Given the description of an element on the screen output the (x, y) to click on. 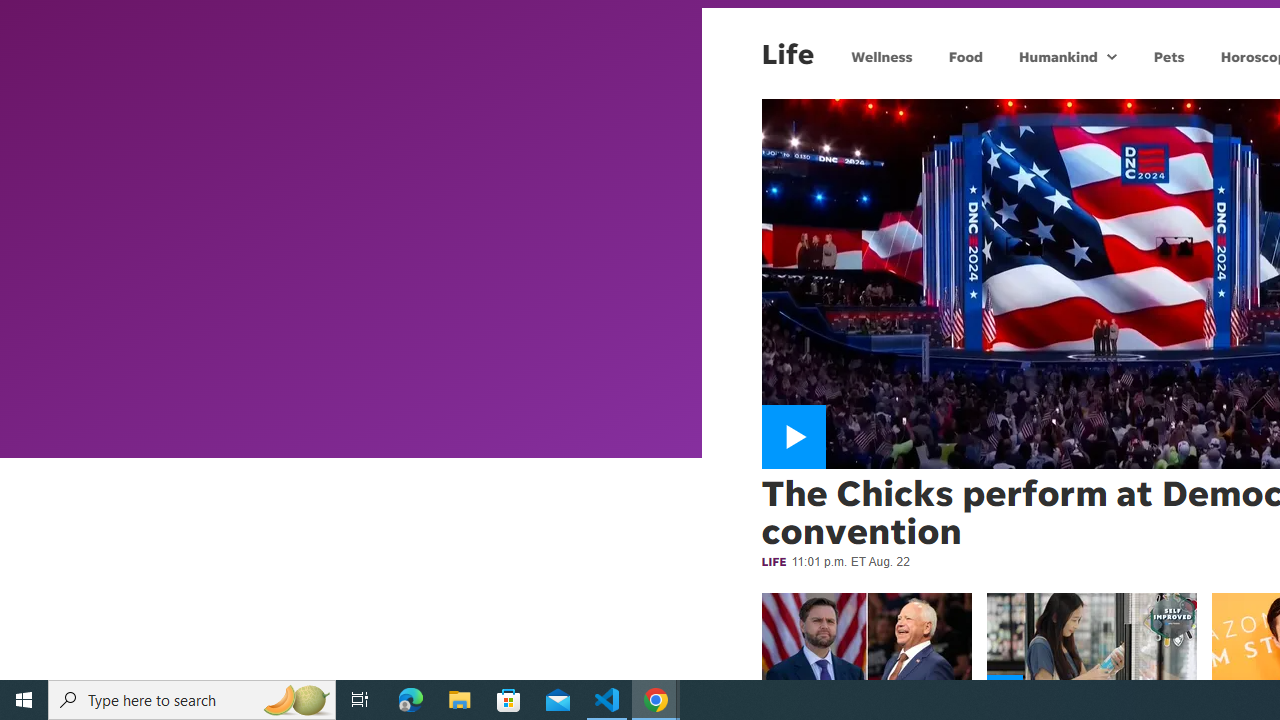
Pets (1168, 56)
Food (965, 56)
Wellness (881, 56)
Humankind (1055, 56)
More Humankind navigation (1111, 56)
